Given the description of an element on the screen output the (x, y) to click on. 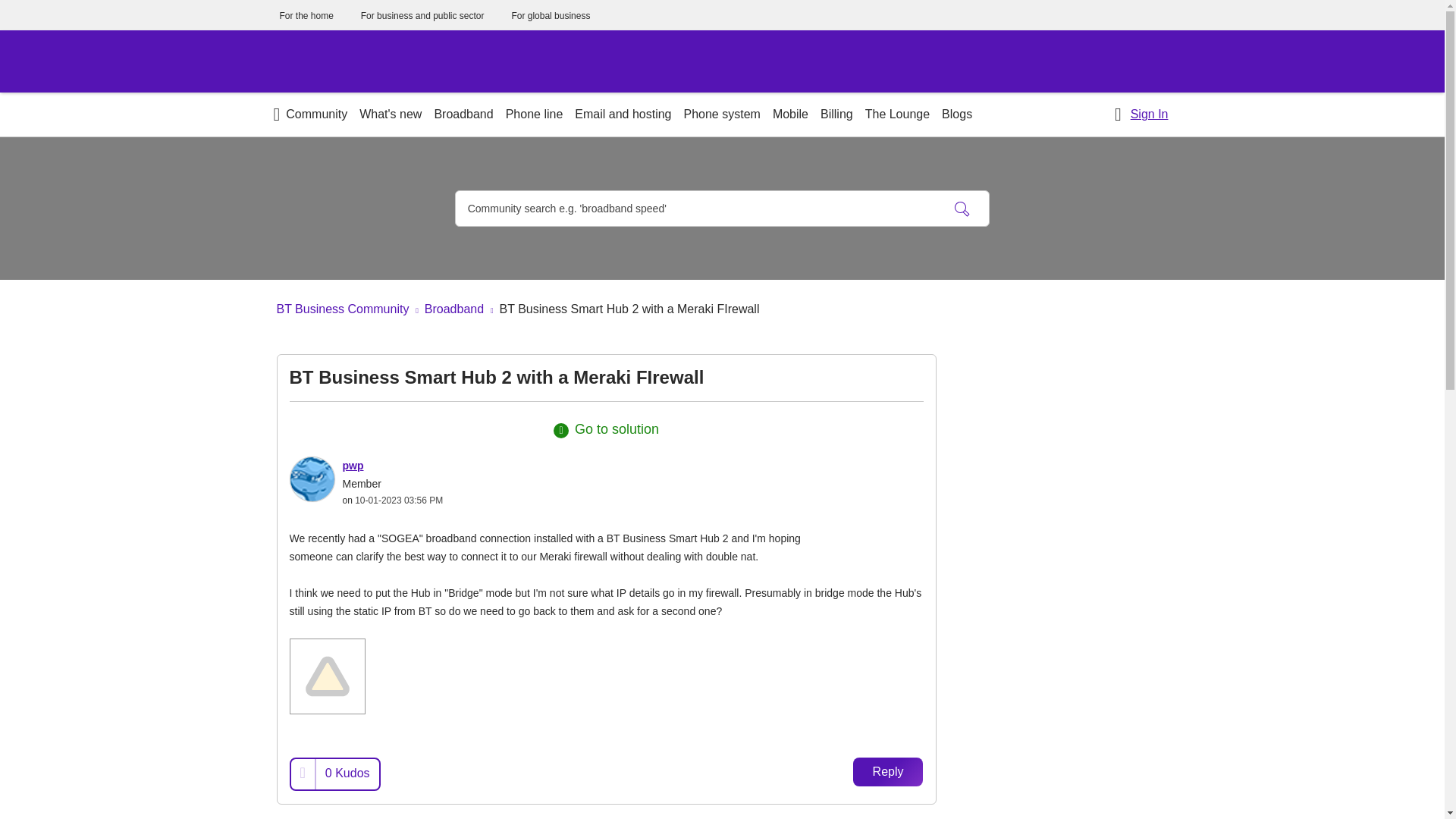
Billing (836, 114)
pwp (311, 479)
Community (309, 114)
BT Business Community (342, 308)
Email and hosting (623, 114)
Search (961, 208)
For global business (550, 15)
Search (961, 208)
For business and public sector (422, 15)
Blogs (957, 114)
